Given the description of an element on the screen output the (x, y) to click on. 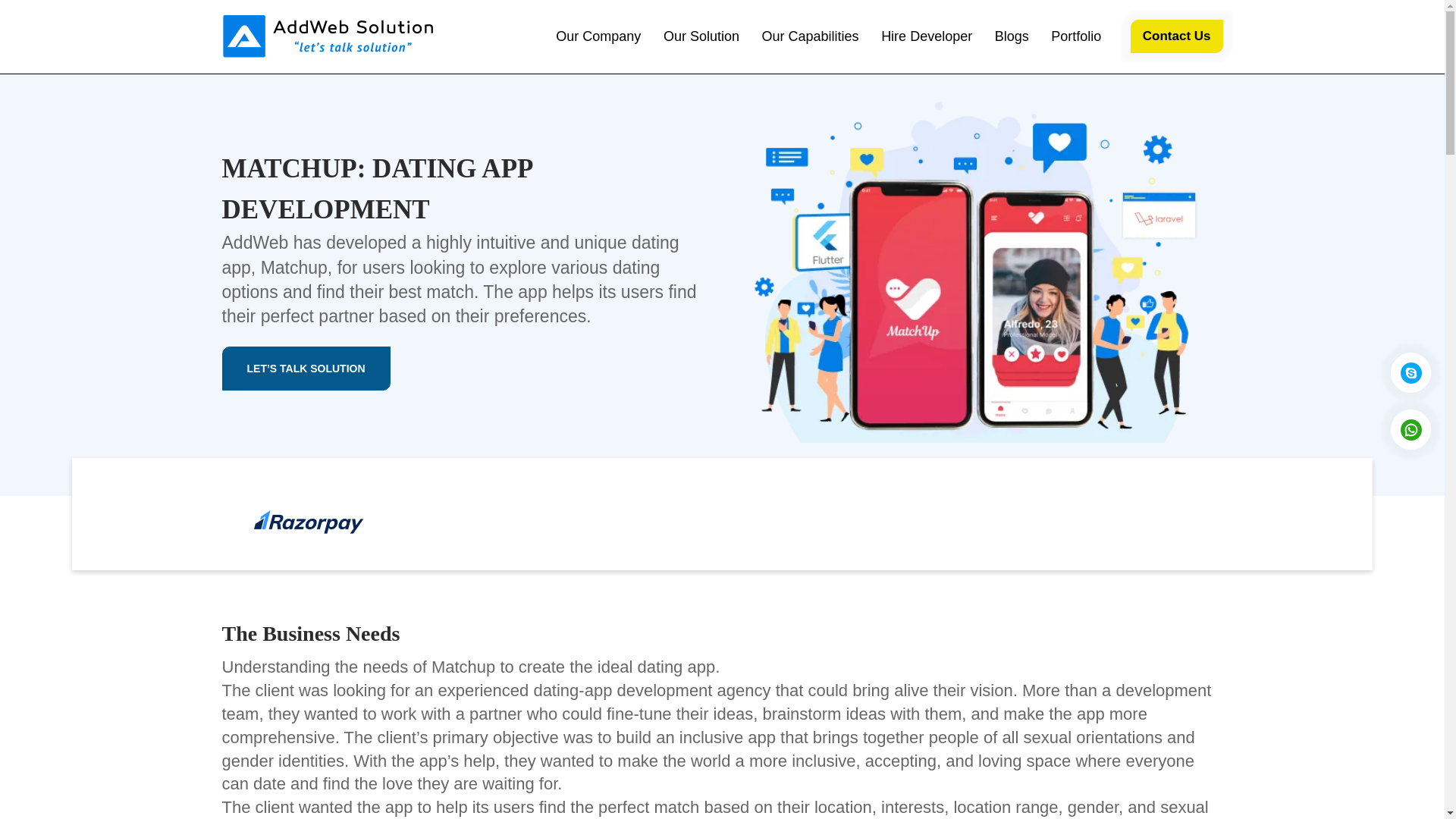
Floating Icon (1410, 429)
Our Solution (701, 36)
Floating Icon (1410, 372)
Our Company (598, 36)
